Given the description of an element on the screen output the (x, y) to click on. 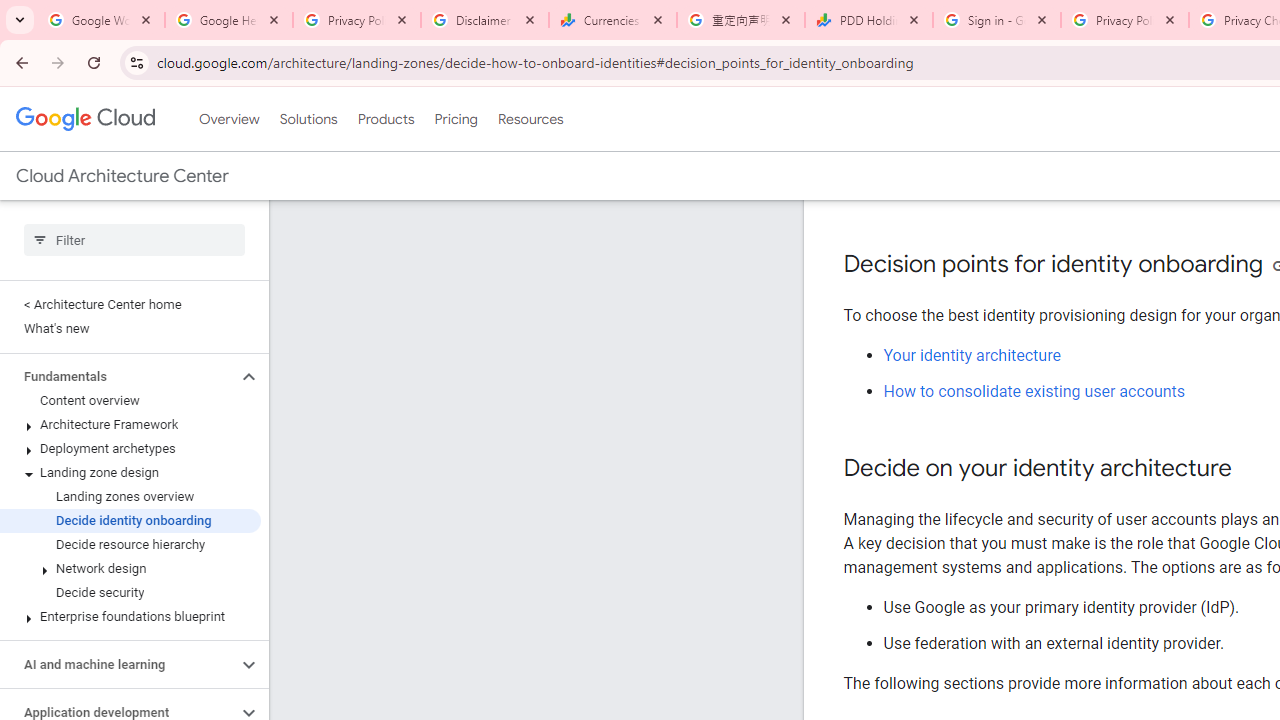
Network design (130, 569)
Sign in - Google Accounts (997, 20)
< Architecture Center home (130, 304)
Enterprise foundations blueprint (130, 616)
Deployment archetypes (130, 448)
How to consolidate existing user accounts (1034, 391)
Products (385, 119)
What's new (130, 328)
Decide resource hierarchy (130, 544)
Decide security (130, 592)
